Given the description of an element on the screen output the (x, y) to click on. 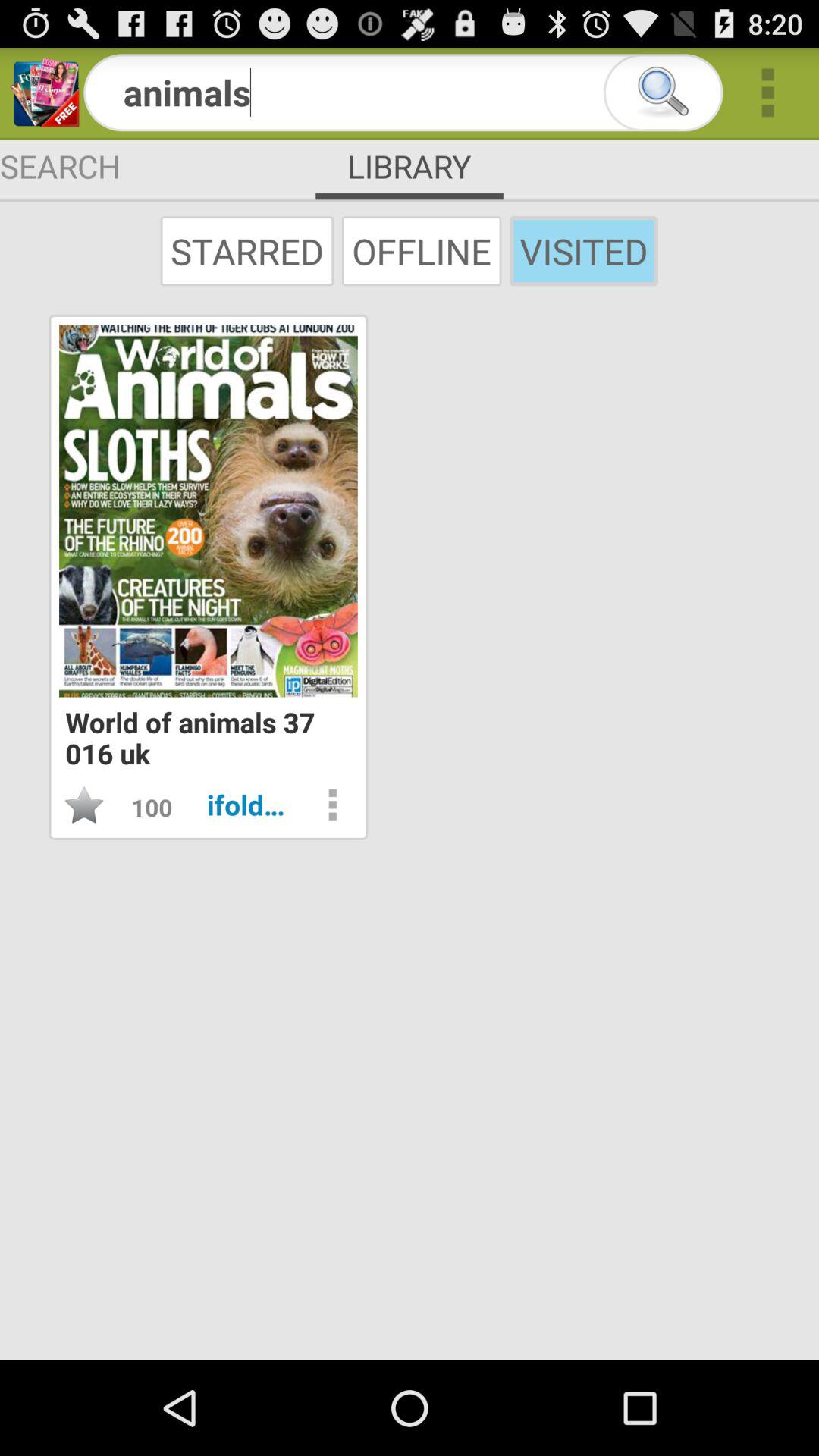
button to open up main menu (767, 92)
